Given the description of an element on the screen output the (x, y) to click on. 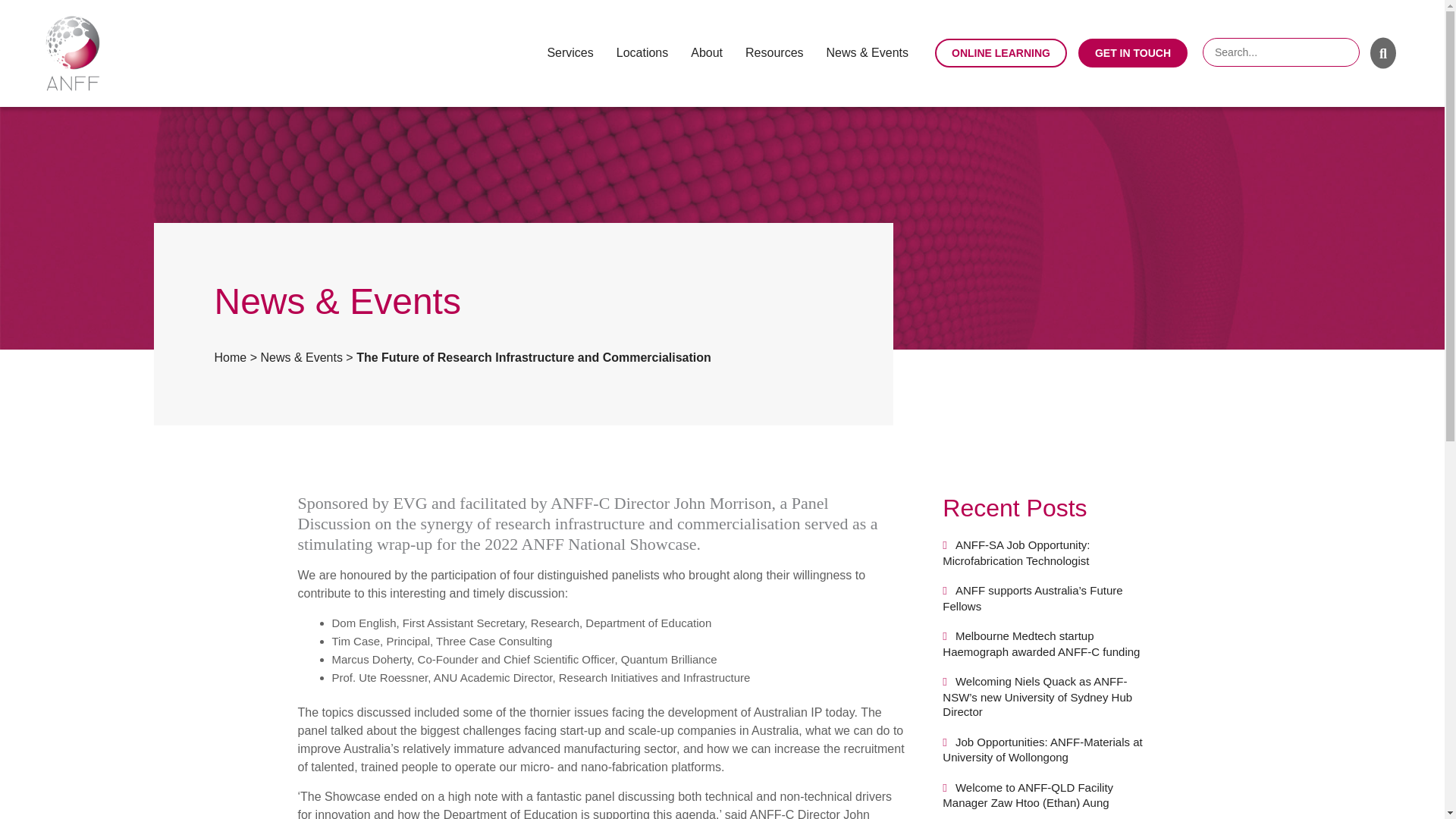
GET IN TOUCH (1133, 52)
Services (569, 52)
Locations (641, 52)
ONLINE LEARNING (1000, 52)
Resources (774, 52)
About (706, 52)
